Given the description of an element on the screen output the (x, y) to click on. 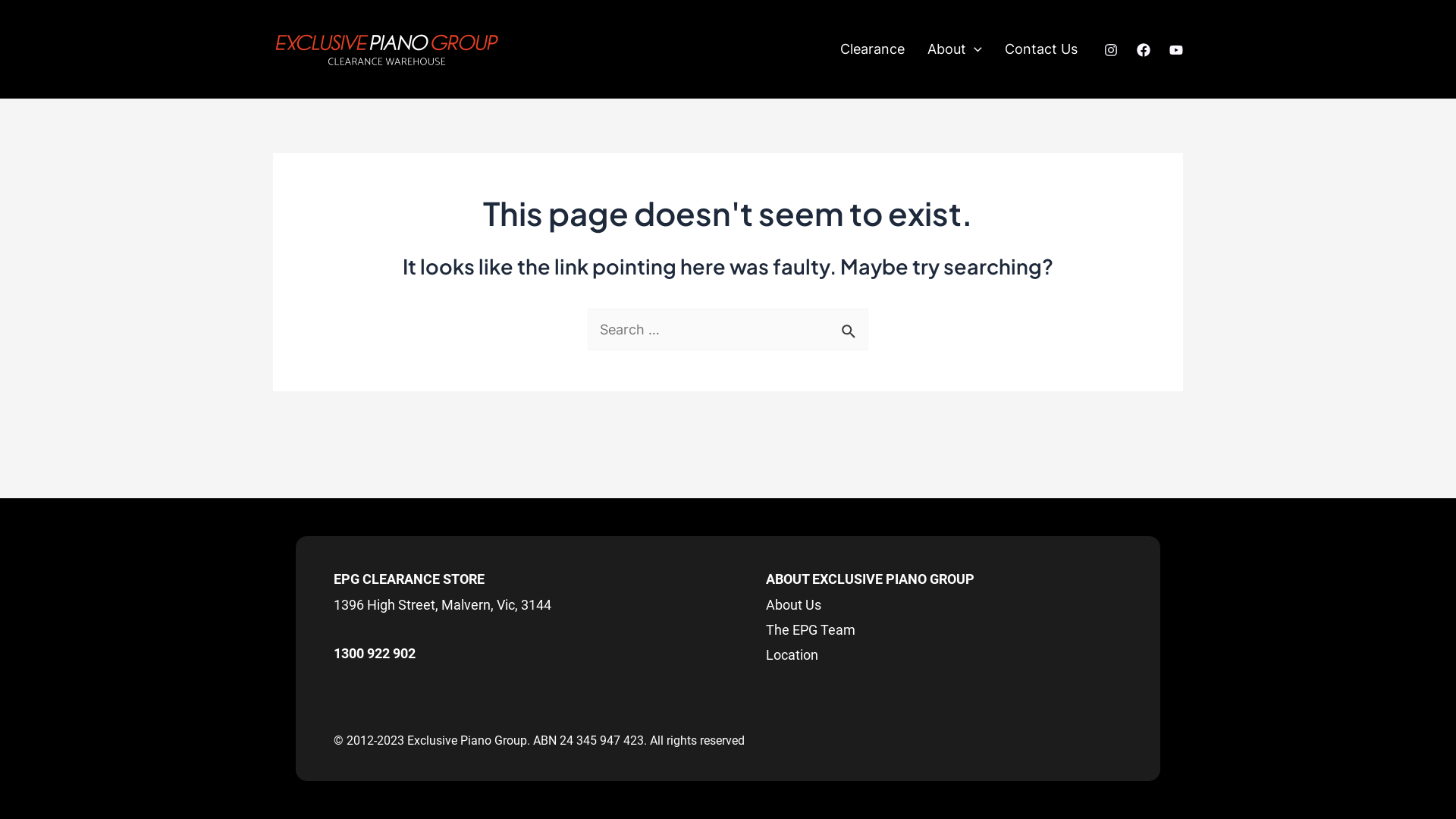
Clearance Element type: text (872, 49)
About Element type: text (954, 49)
Contact Us Element type: text (1040, 49)
Search Element type: text (851, 325)
